Given the description of an element on the screen output the (x, y) to click on. 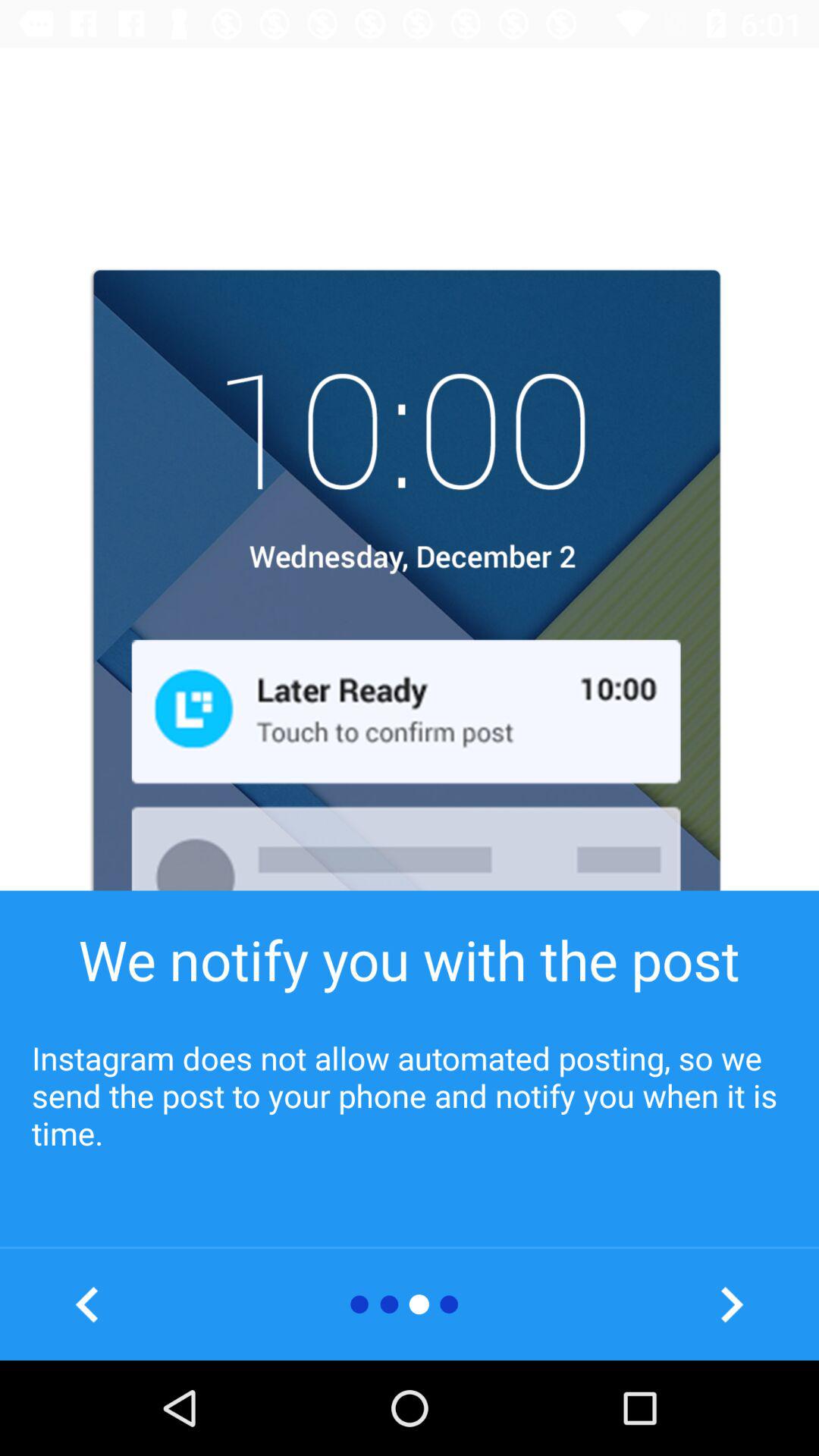
next page (731, 1304)
